Given the description of an element on the screen output the (x, y) to click on. 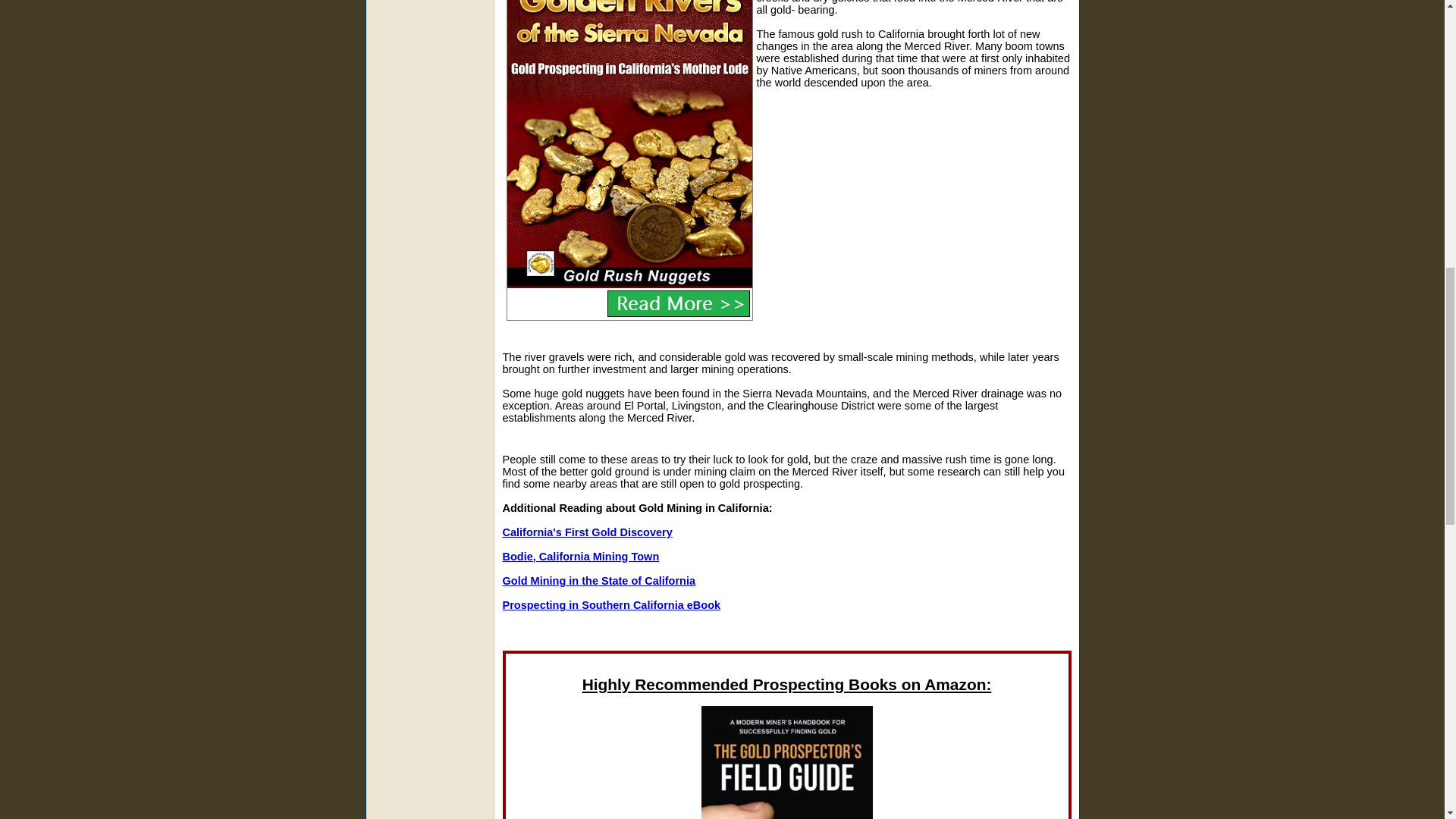
Gold Mining in the State of California (598, 580)
California's First Gold Discovery (586, 532)
Prospecting in Southern California eBook (611, 604)
Bodie, California Mining Town (580, 556)
